Given the description of an element on the screen output the (x, y) to click on. 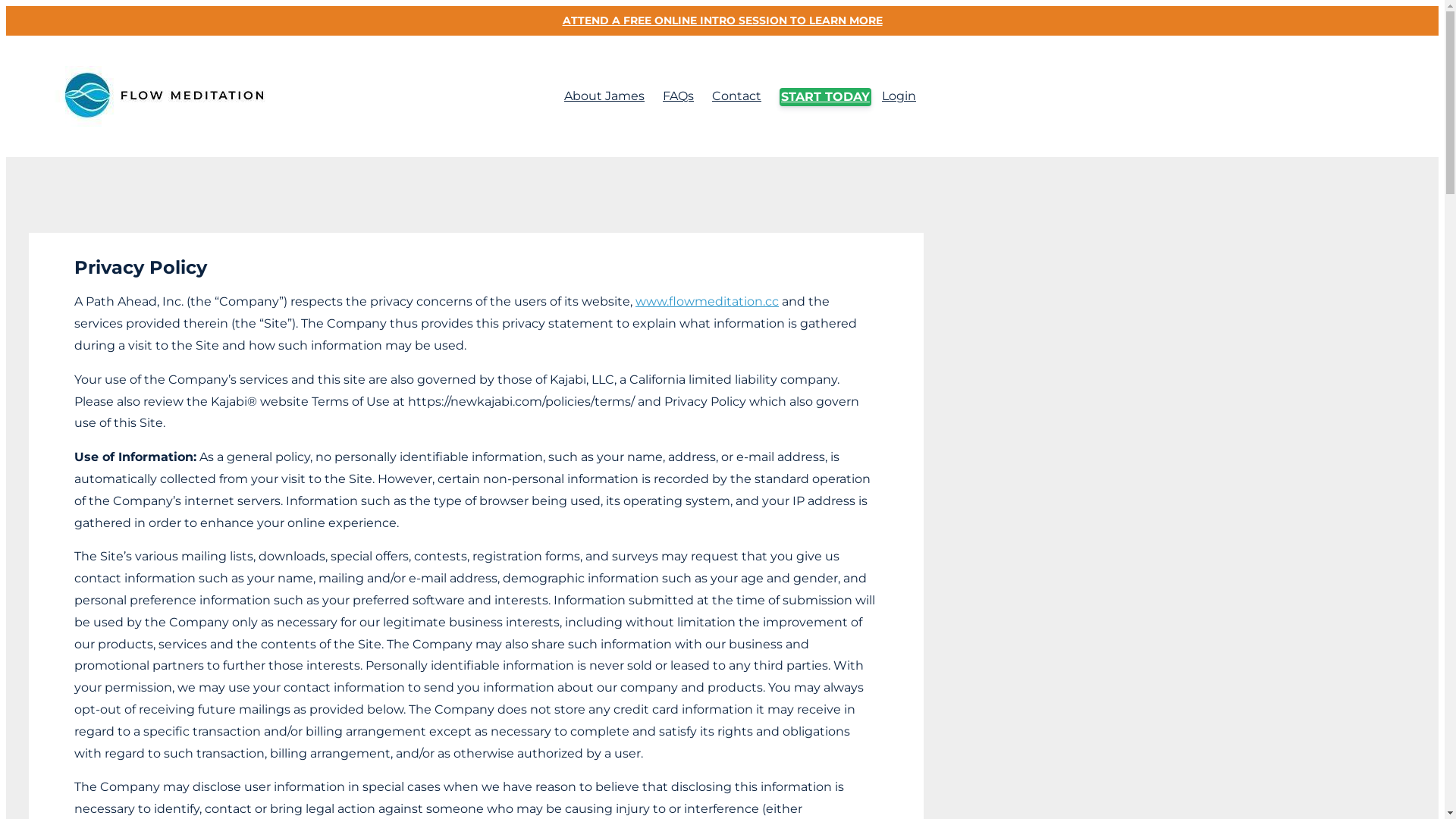
www.flowmeditation.cc Element type: text (706, 301)
Contact Element type: text (736, 96)
START TODAY Element type: text (825, 96)
About James Element type: text (604, 96)
ATTEND A FREE ONLINE INTRO SESSION TO LEARN MORE Element type: text (722, 20)
FAQs Element type: text (677, 96)
Login Element type: text (898, 96)
